Given the description of an element on the screen output the (x, y) to click on. 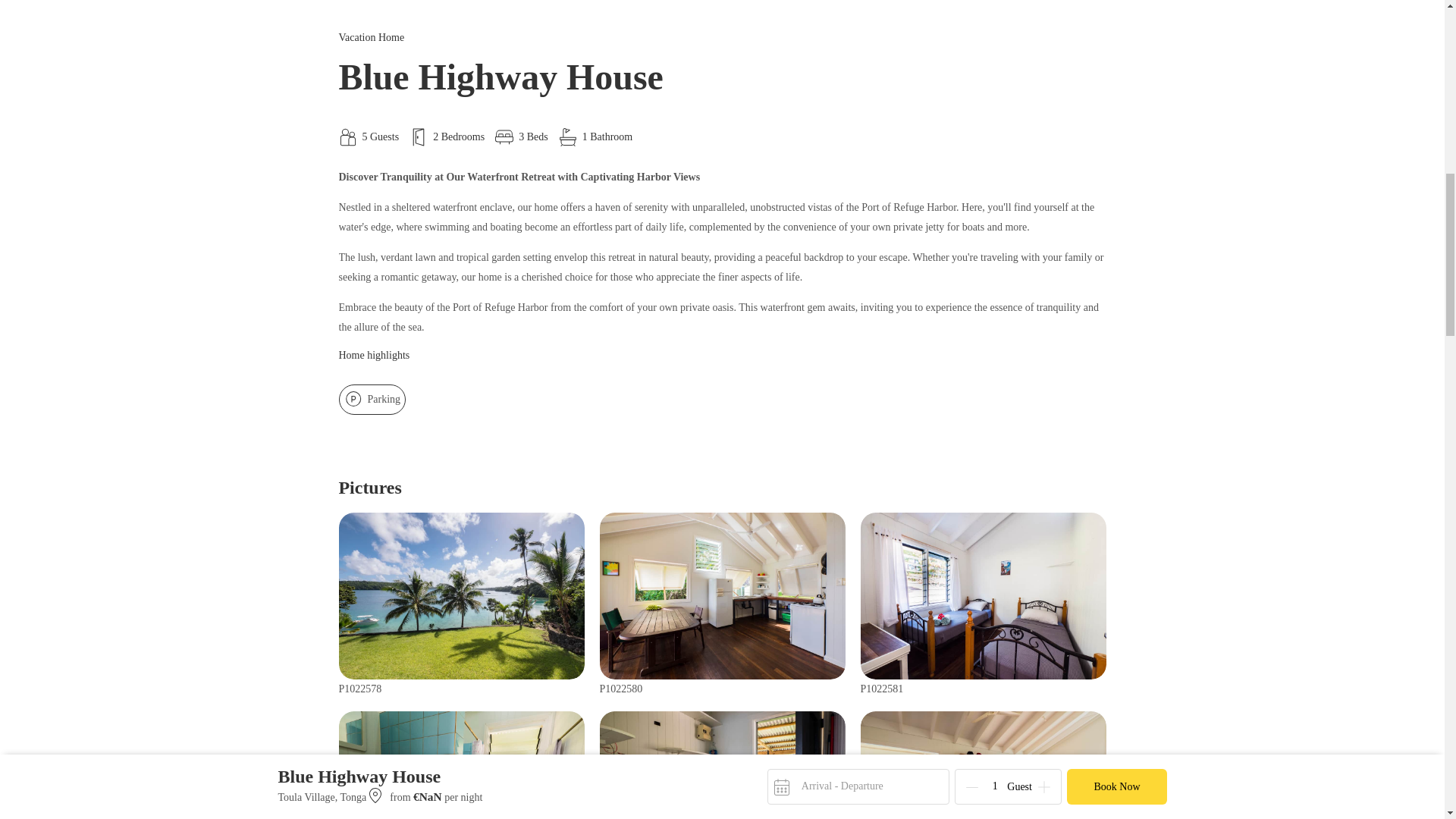
P1022581 (982, 595)
P1022583 (460, 765)
P1022589 (721, 765)
P1022578 (460, 595)
P1022580 (721, 595)
P1022591 (982, 765)
